Given the description of an element on the screen output the (x, y) to click on. 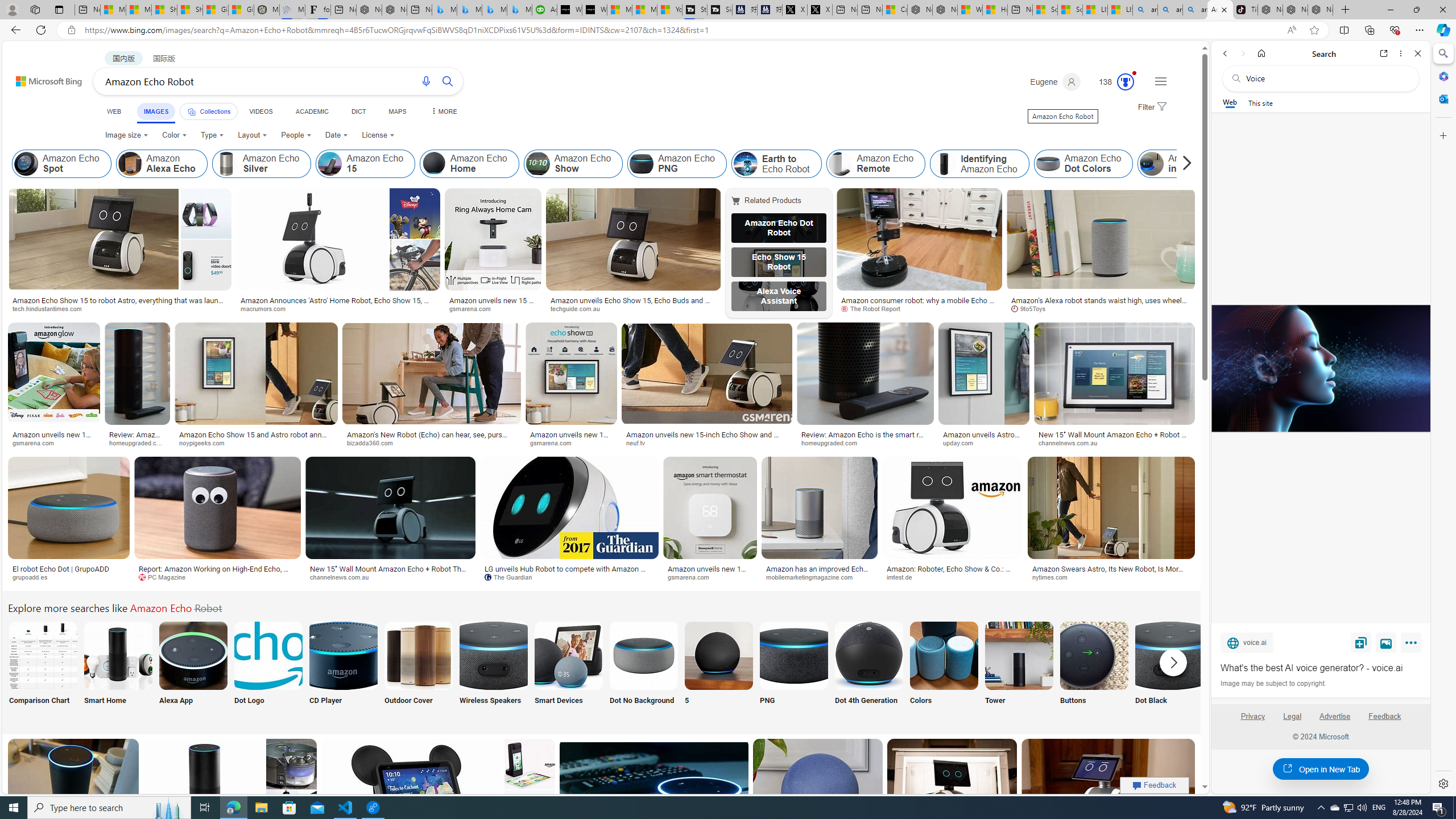
Amazon Alexa Echo (161, 163)
Layout (252, 135)
Amazon Echo 15 (329, 163)
Back to Bing search (41, 78)
Eugene (1054, 81)
Amazon Echo Smart Home (118, 654)
Type (212, 135)
Identifying Amazon Echo (979, 163)
Class: medal-svg-animation (1125, 81)
Smart Home (118, 669)
Amazon Echo Tower Tower (1018, 669)
